Given the description of an element on the screen output the (x, y) to click on. 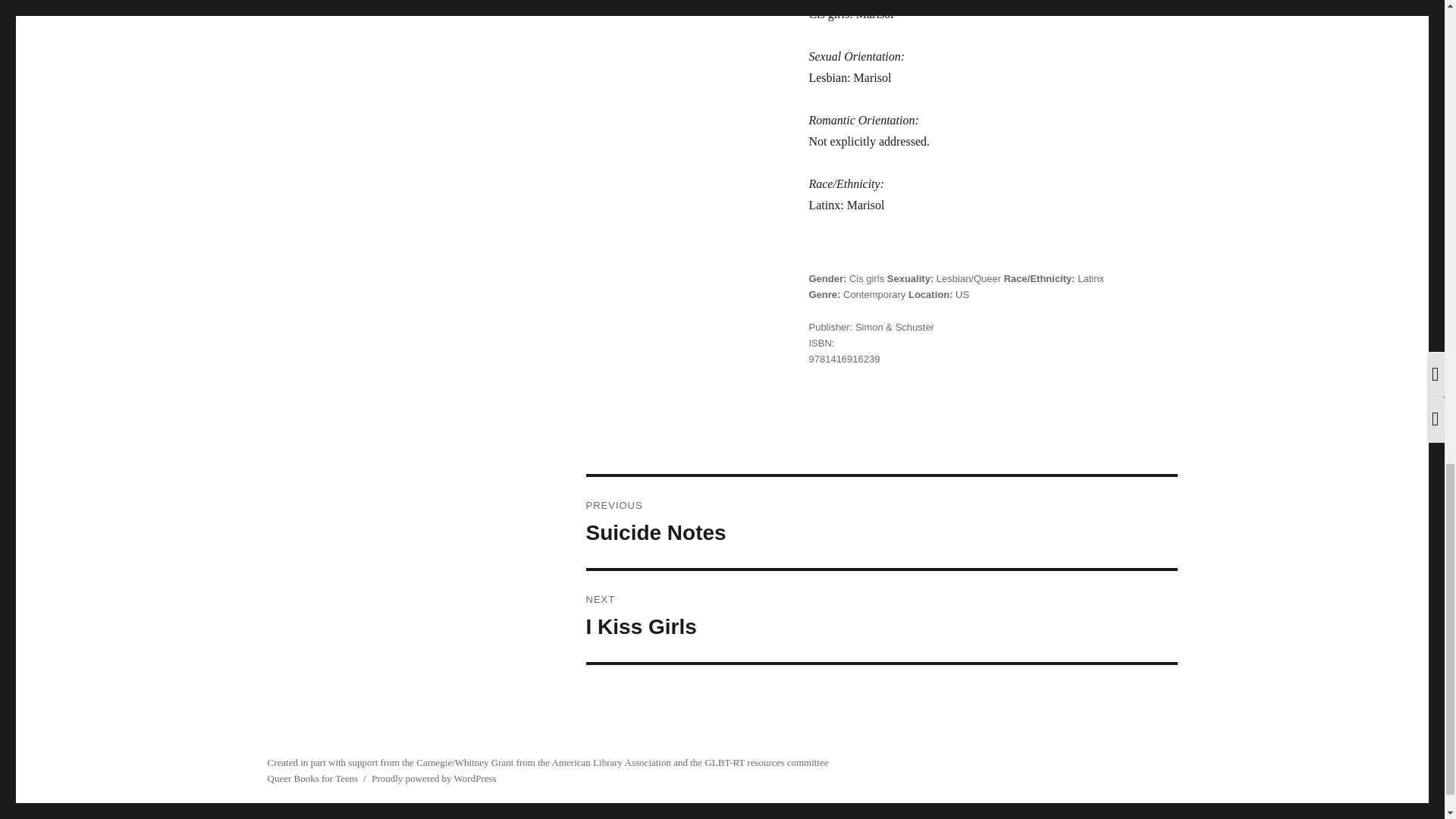
US (962, 294)
Cis girls (865, 278)
Contemporary (874, 294)
Latinx (1090, 278)
